Given the description of an element on the screen output the (x, y) to click on. 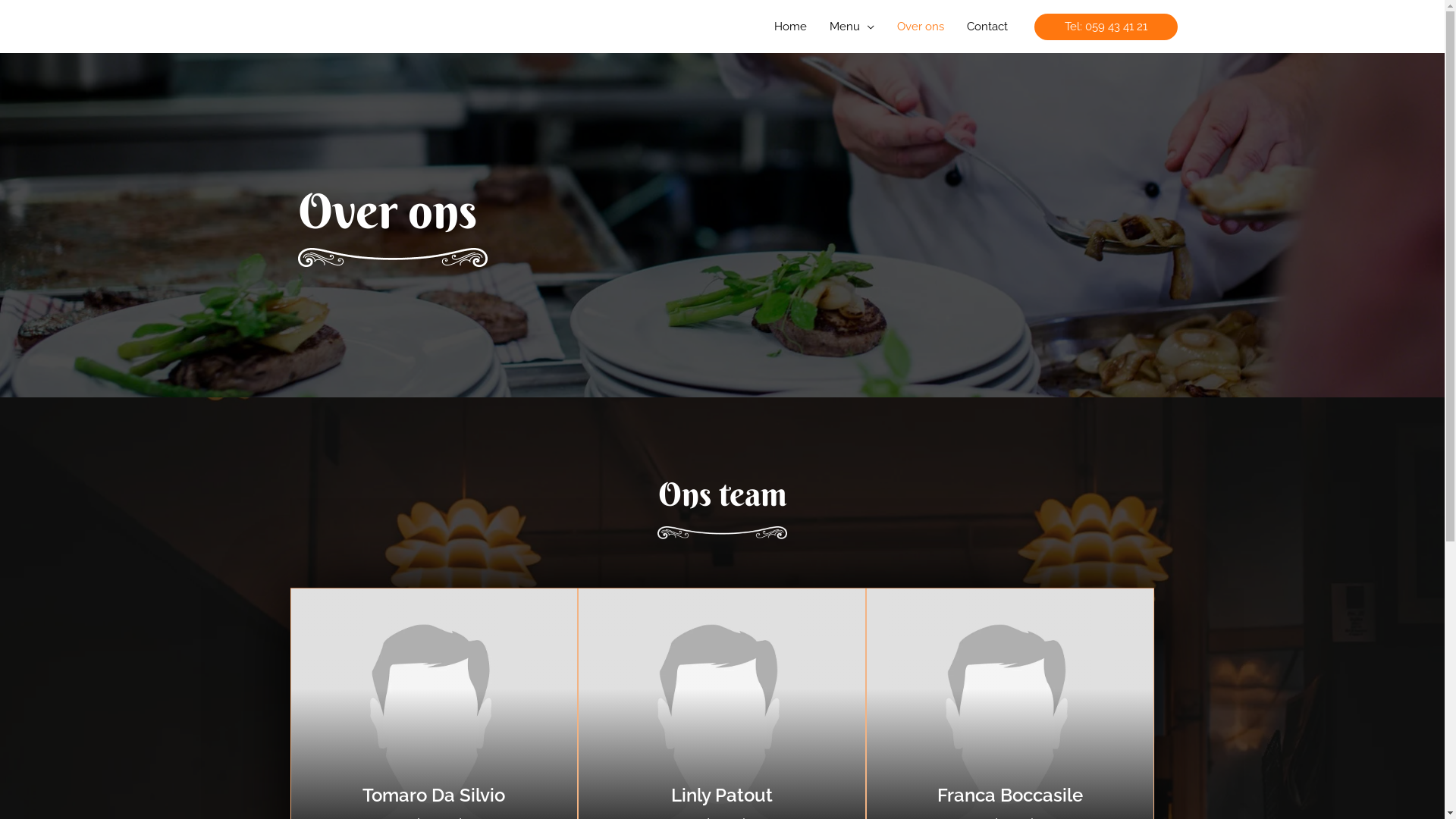
Contact Element type: text (987, 26)
Menu Element type: text (850, 26)
Over ons Element type: text (920, 26)
Tel: 059 43 41 21 Element type: text (1105, 26)
Home Element type: text (790, 26)
